Given the description of an element on the screen output the (x, y) to click on. 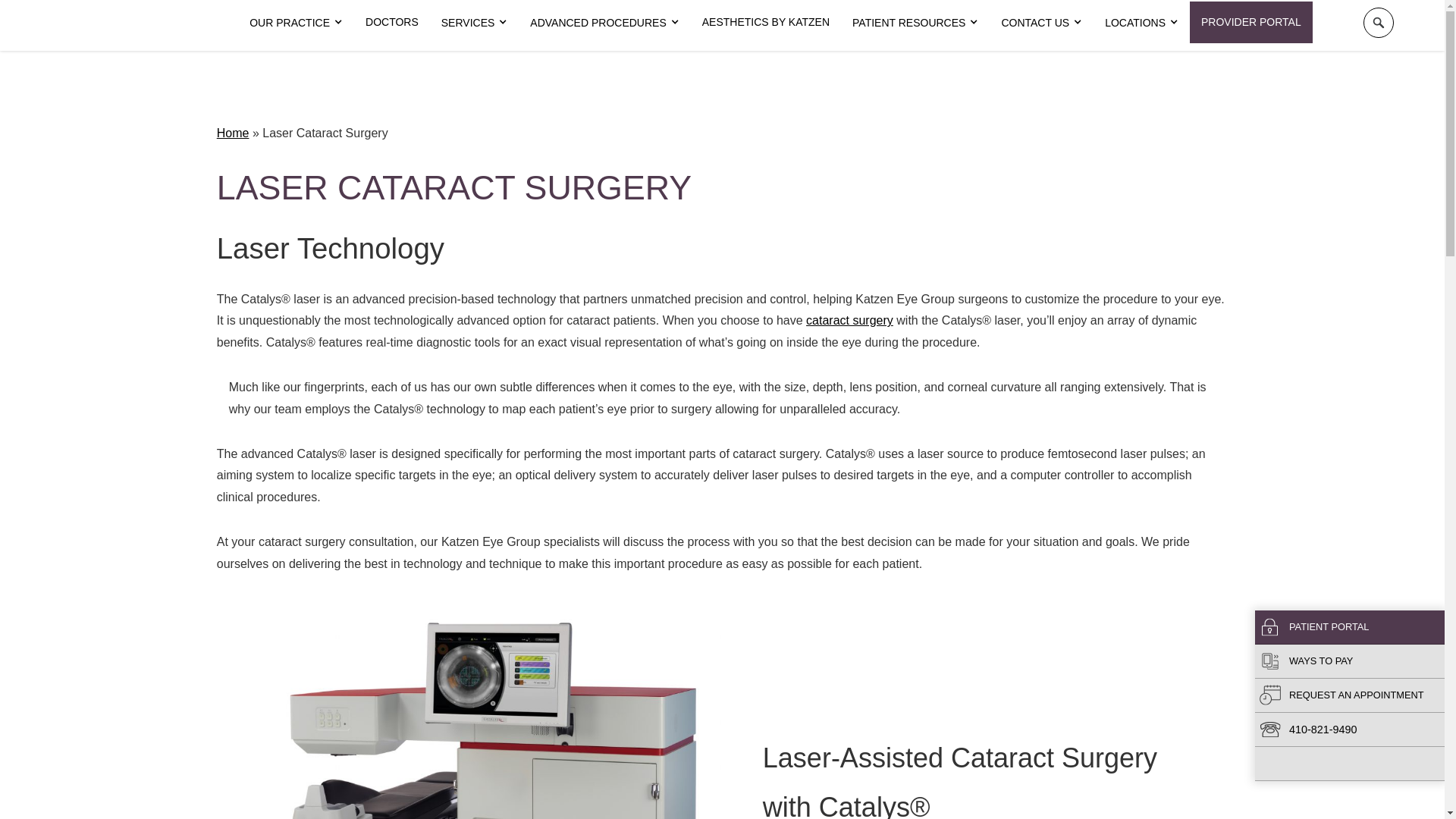
Doctors (391, 21)
Dropdown Menu (295, 22)
OUR PRACTICE (295, 22)
AESTHETICS BY KATZEN (765, 21)
Go to homepage (118, 22)
Menu Dropdown (474, 22)
PATIENT RESOURCES (915, 22)
ADVANCED PROCEDURES (604, 22)
SERVICES (474, 22)
DOCTORS (391, 21)
